Given the description of an element on the screen output the (x, y) to click on. 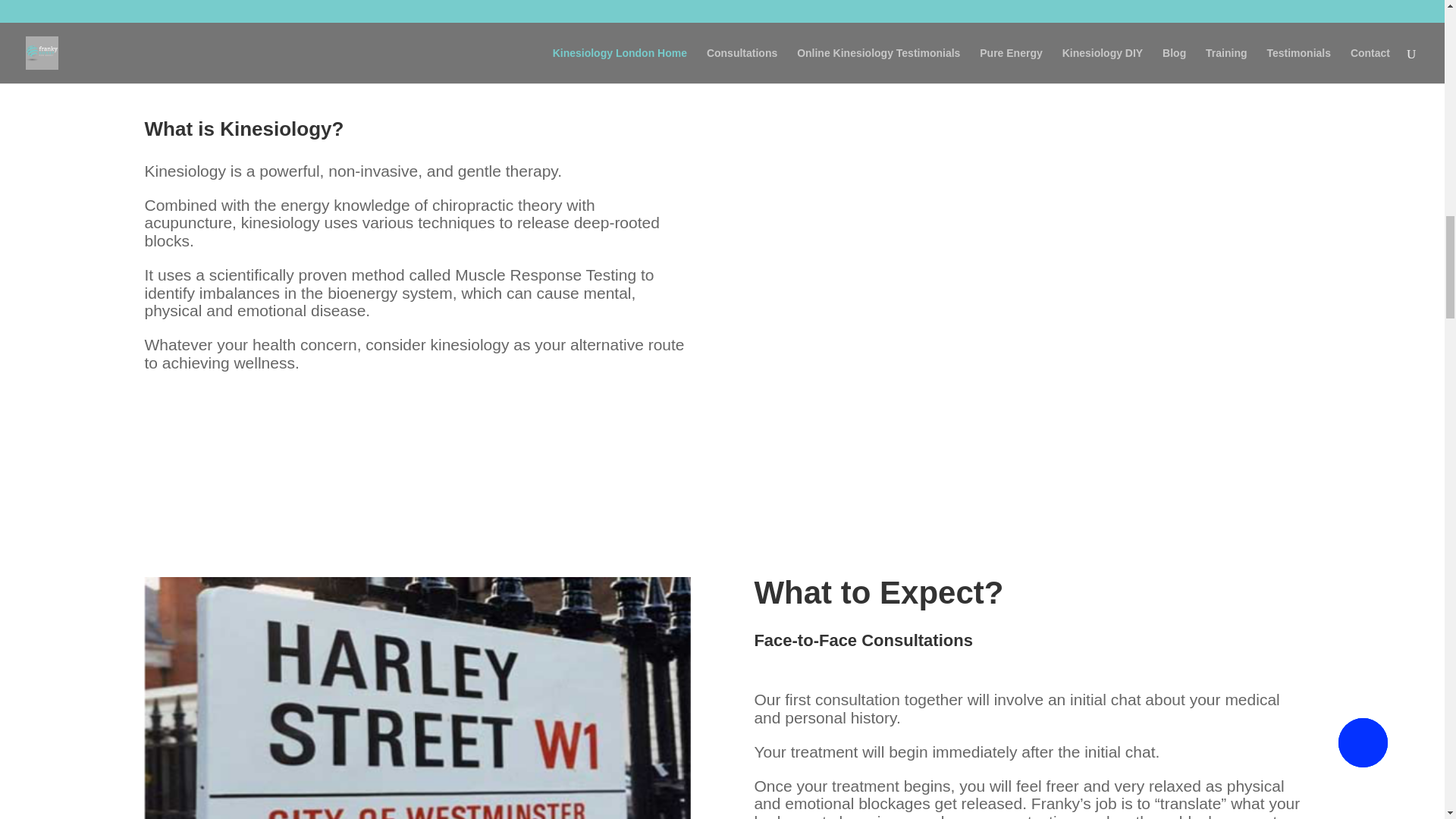
Kinesiology-Clinic-London-Harley-Street (417, 698)
